Given the description of an element on the screen output the (x, y) to click on. 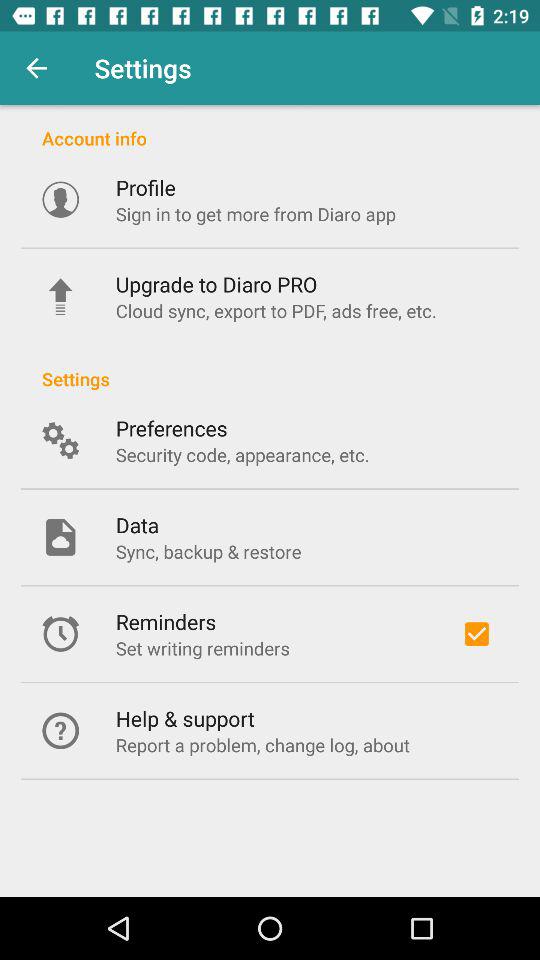
select the app to the left of the settings app (36, 68)
